Given the description of an element on the screen output the (x, y) to click on. 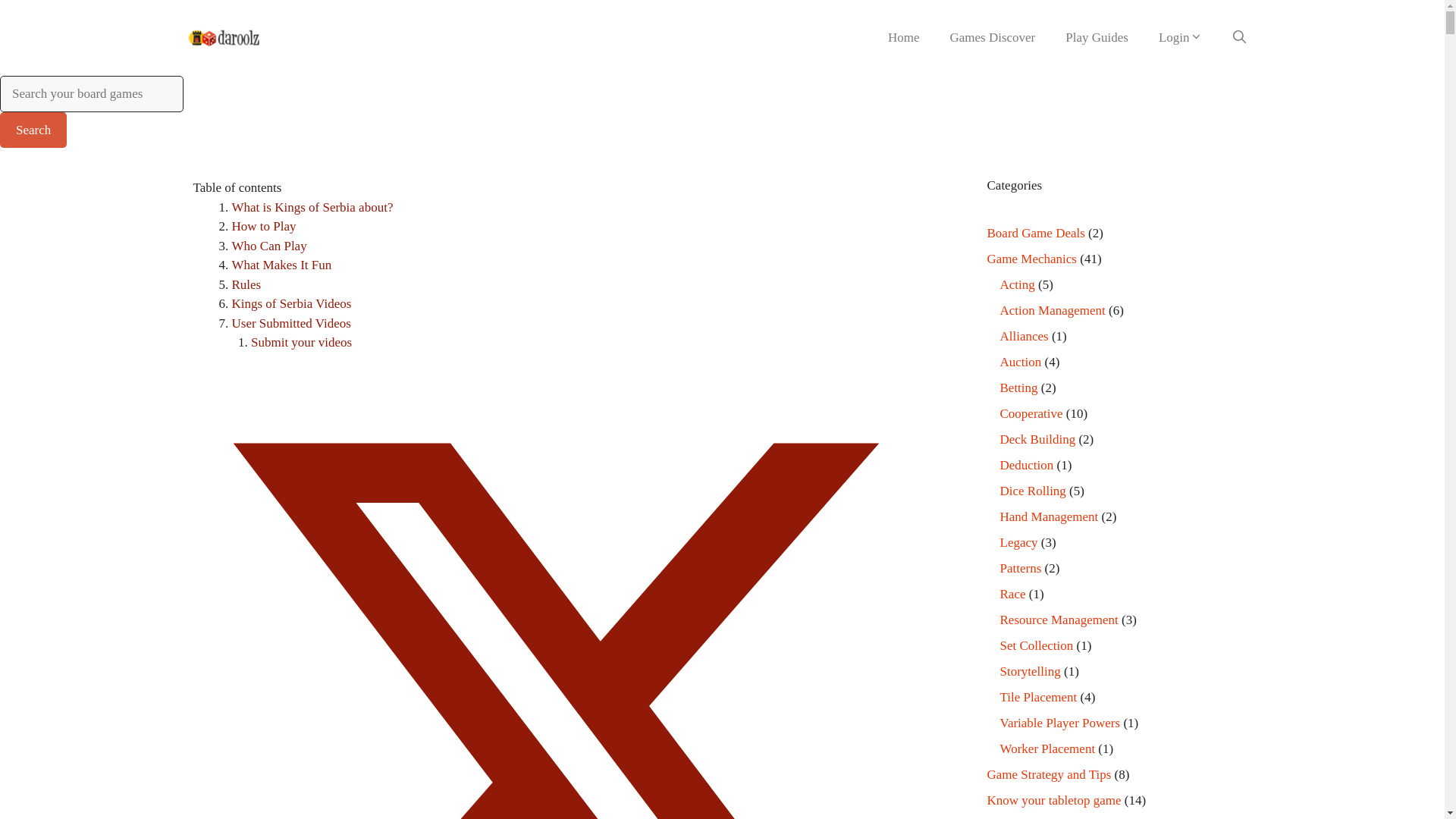
Rules (246, 284)
Search (33, 130)
Search your board games (91, 94)
How to Play (264, 226)
What Makes It Fun (281, 264)
Kings of Serbia Videos (291, 303)
Search (33, 130)
How to Play (264, 226)
Search (33, 130)
Submit your videos (301, 341)
